Given the description of an element on the screen output the (x, y) to click on. 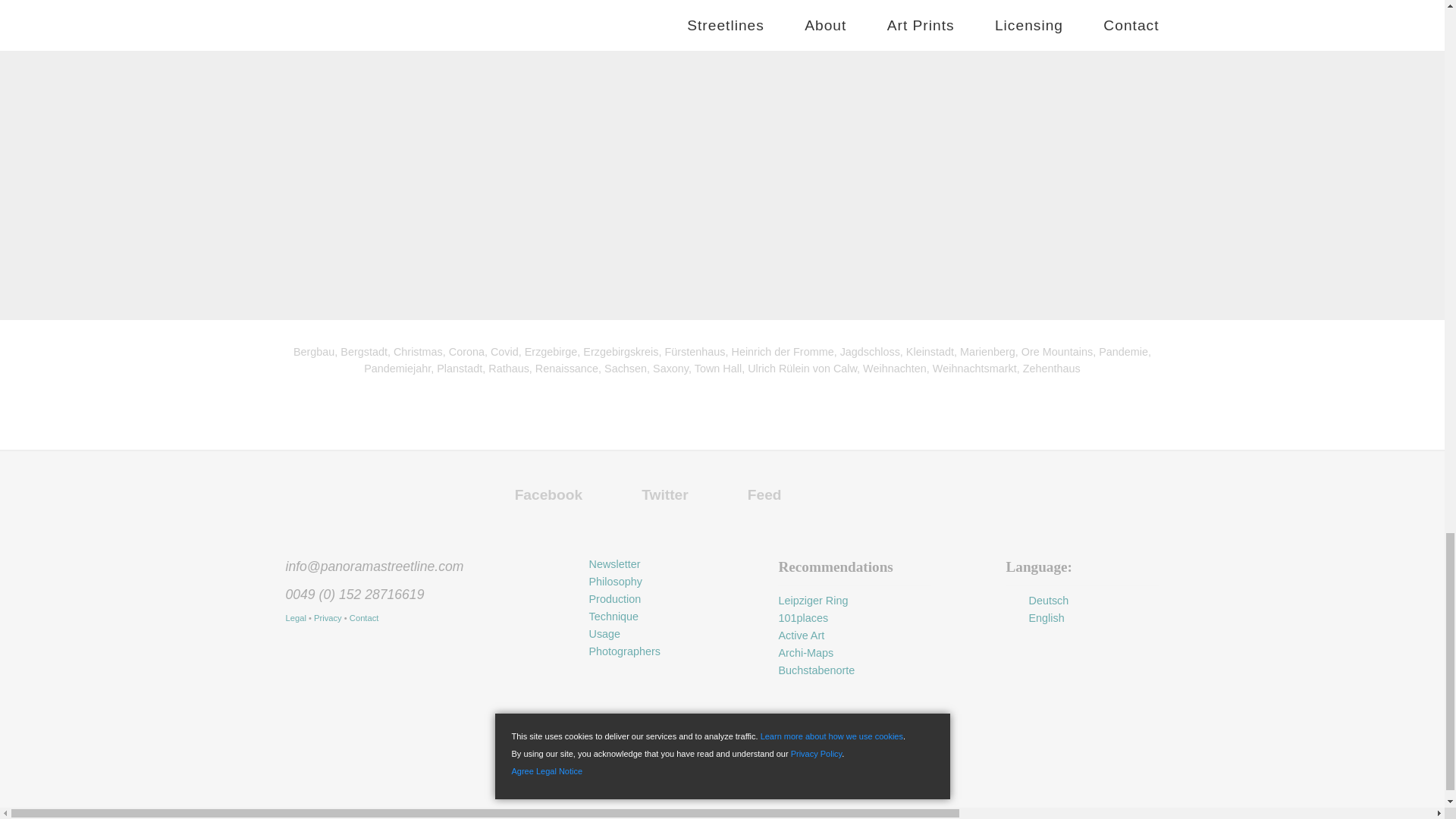
Follow us on Tumblr (884, 475)
Marienberg (986, 351)
Weihnachtsmarkt (974, 368)
Kleinstadt (929, 351)
Feed (760, 495)
Weihnachten (894, 368)
Renaissance (566, 368)
Pandemiejahr (397, 368)
Erzgebirgskreis (620, 351)
Corona (466, 351)
